Given the description of an element on the screen output the (x, y) to click on. 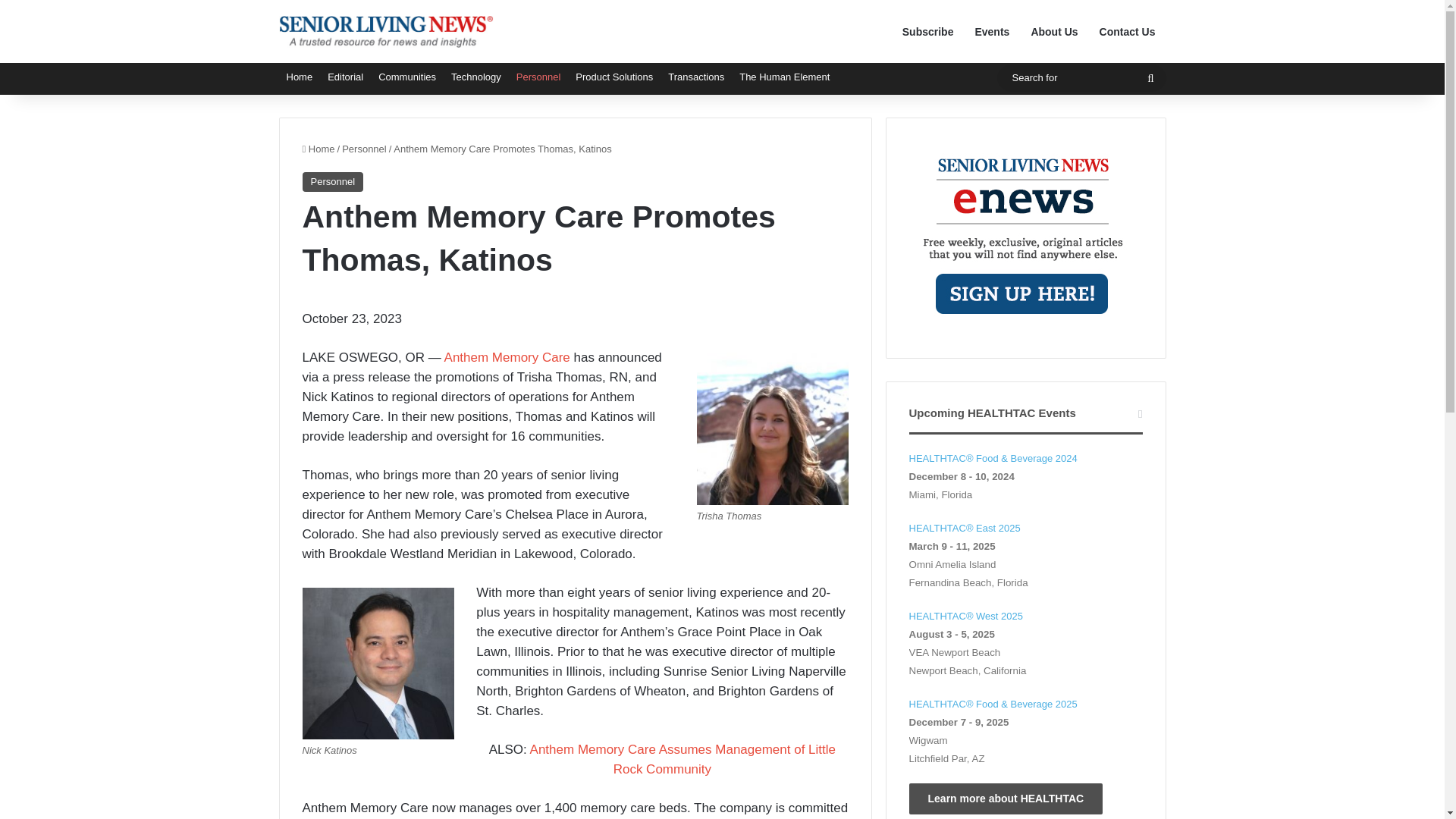
Subscribe (927, 31)
Senior Living News (387, 31)
Contact Us (1127, 31)
Personnel (364, 148)
Search for (1150, 77)
Technology (476, 77)
Editorial (345, 77)
Learn more about HEALTHTAC (1005, 798)
Transactions (696, 77)
Home (317, 148)
